Given the description of an element on the screen output the (x, y) to click on. 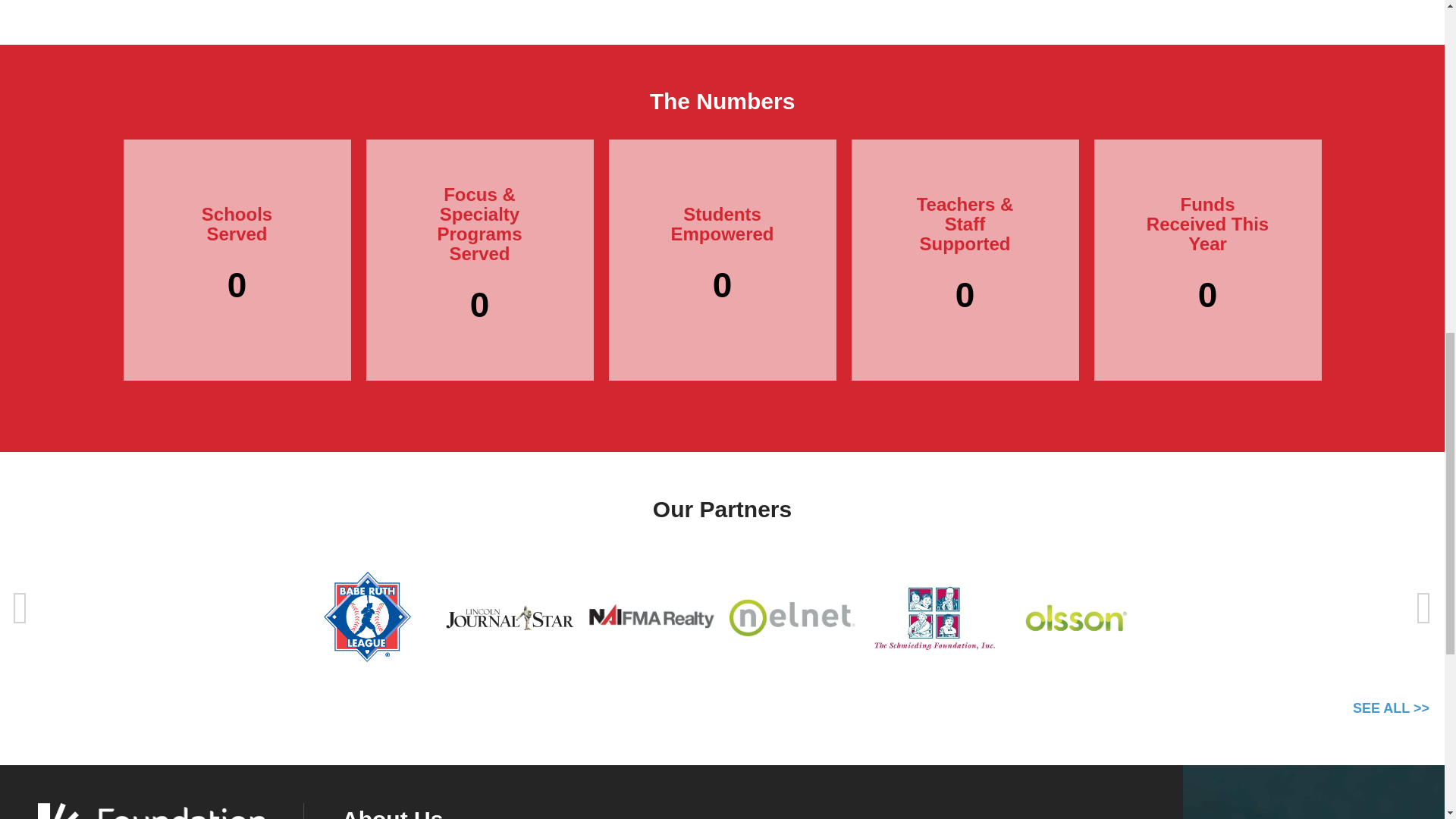
logo (150, 811)
